Given the description of an element on the screen output the (x, y) to click on. 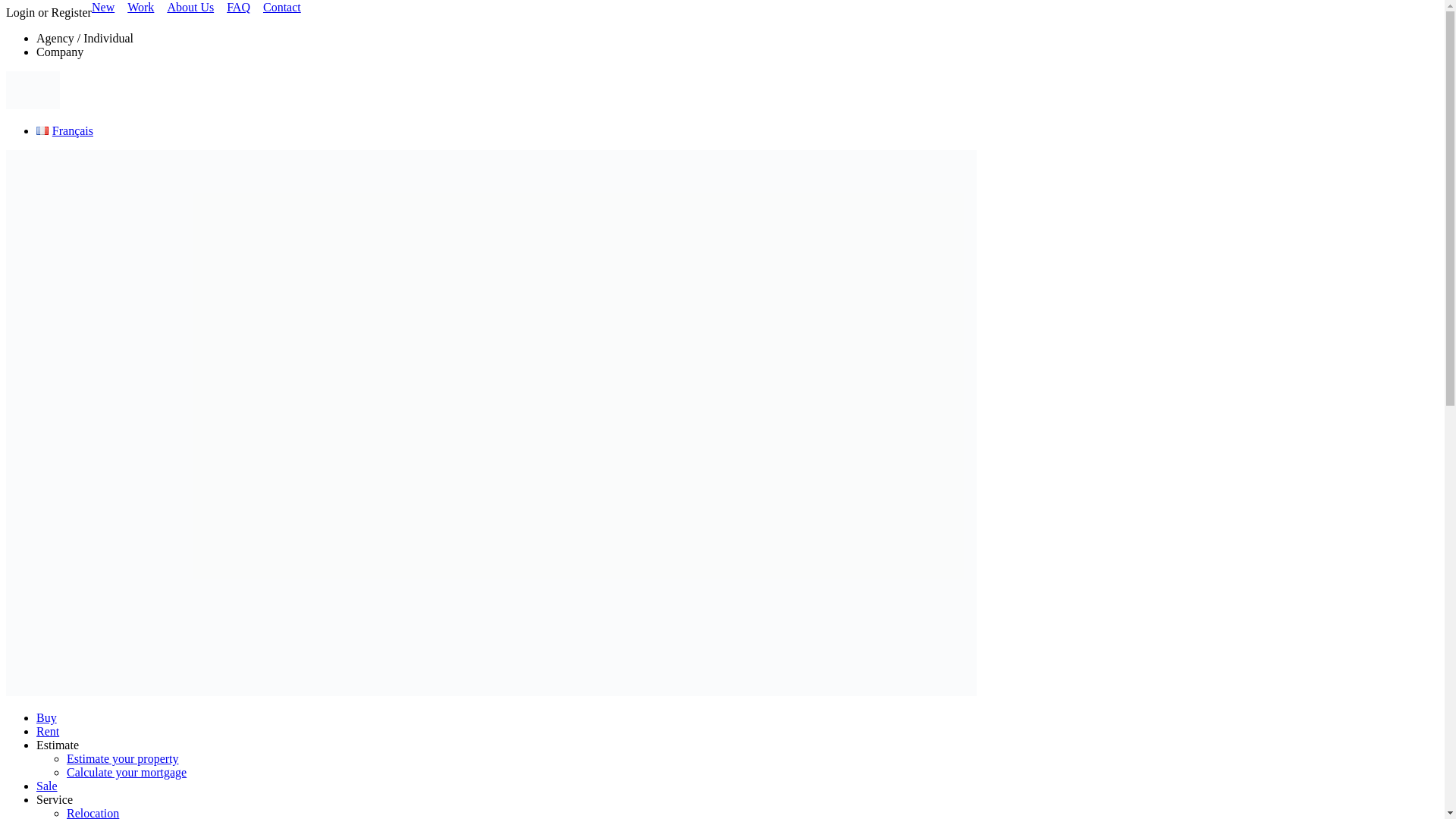
Contact (276, 7)
Company (59, 51)
FAQ (232, 7)
Service (54, 799)
Relocation (92, 812)
Work (135, 7)
Goodid-immo-Goodid-immo (490, 691)
Rent (47, 730)
Estimate (57, 744)
Buy (46, 717)
Sale (47, 785)
Calculate your mortgage (126, 771)
About Us (184, 7)
New (97, 7)
Estimate your property (122, 758)
